Given the description of an element on the screen output the (x, y) to click on. 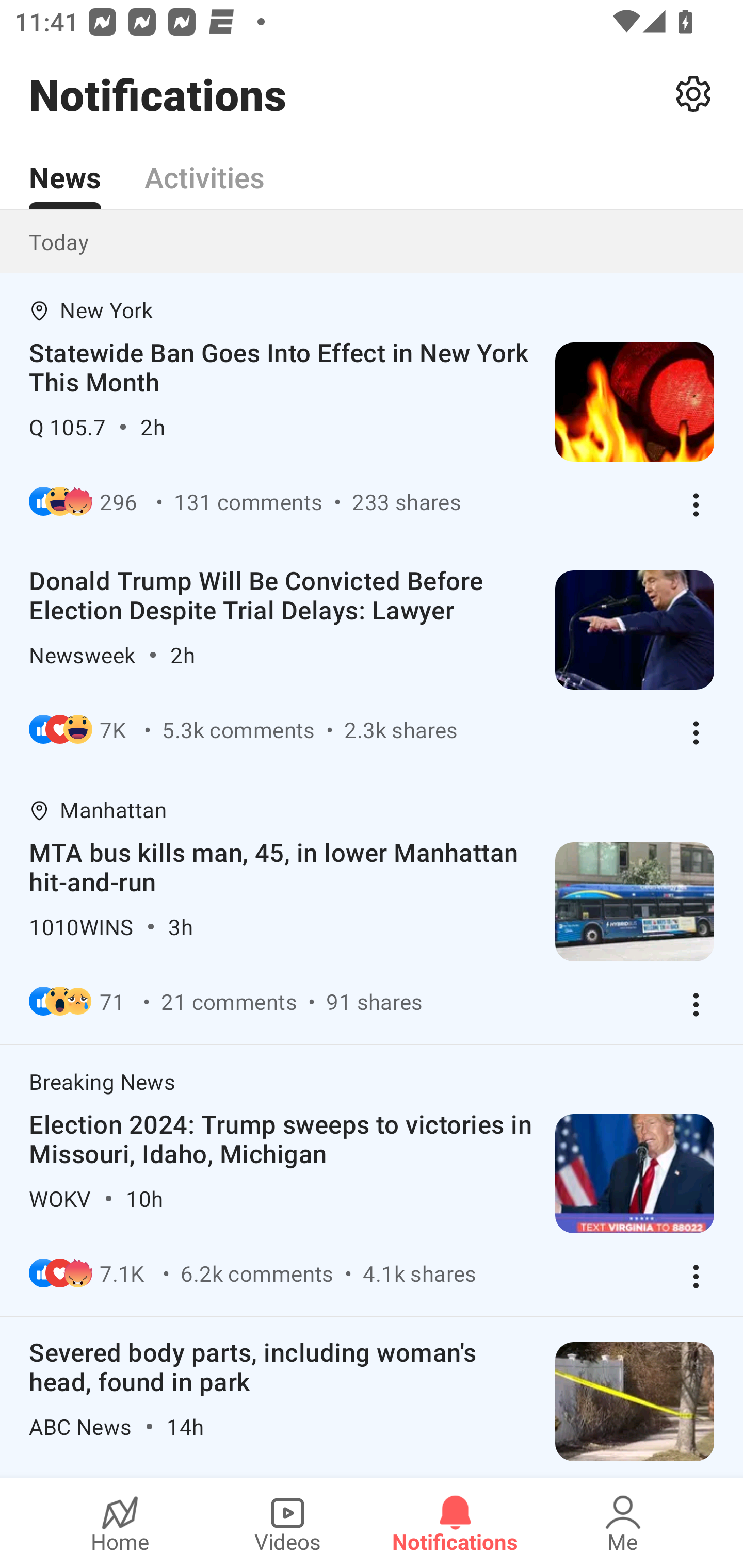
Activities (204, 166)
Home (119, 1522)
Videos (287, 1522)
Me (622, 1522)
